Given the description of an element on the screen output the (x, y) to click on. 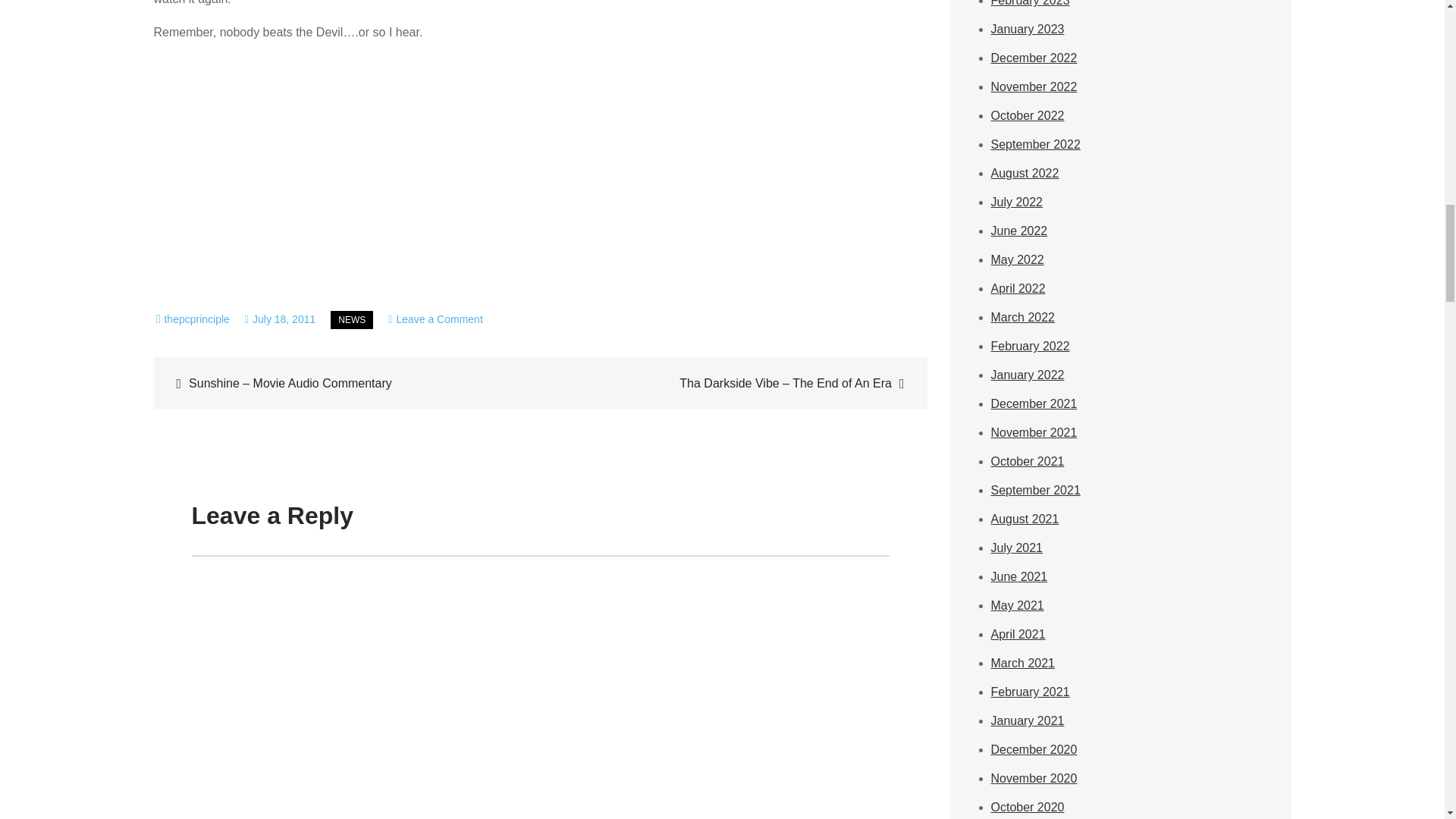
NEWS (351, 320)
July 18, 2011 (279, 318)
thepcprinciple (195, 318)
